Given the description of an element on the screen output the (x, y) to click on. 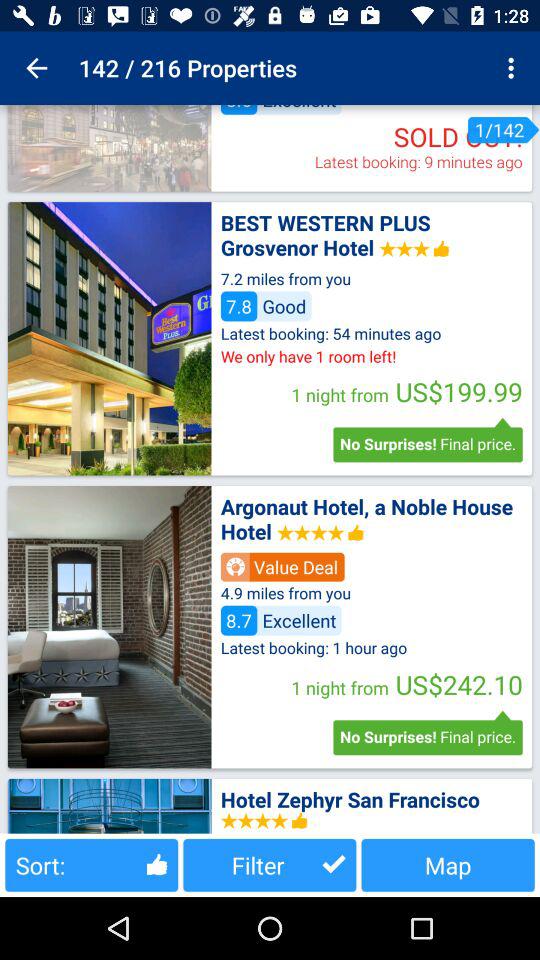
choose the filter item (269, 864)
